Given the description of an element on the screen output the (x, y) to click on. 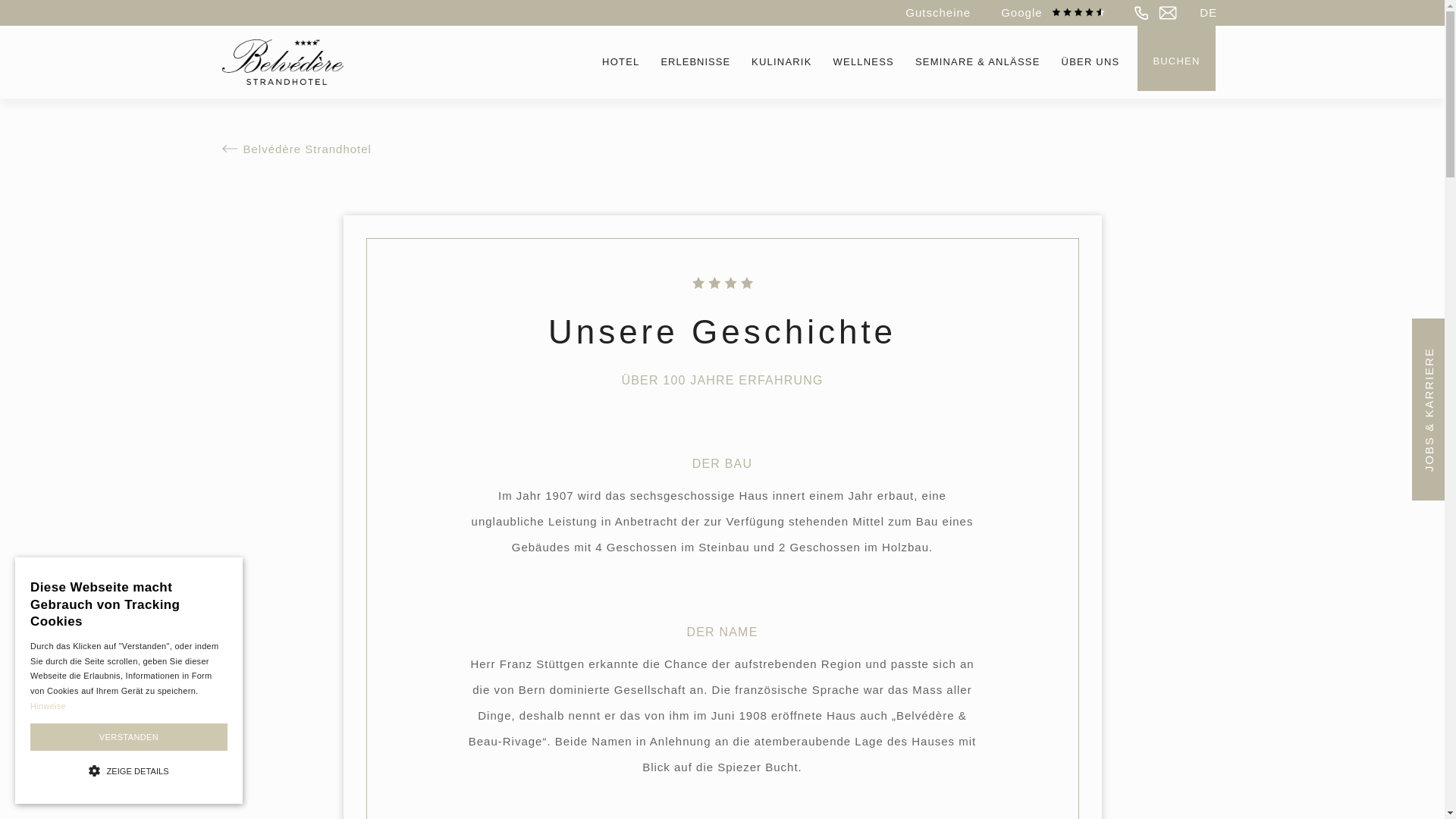
Gutscheine Element type: text (937, 12)
BUCHEN Element type: text (1175, 58)
Hinweise Element type: text (47, 705)
KULINARIK Element type: text (781, 62)
HOTEL Element type: text (620, 62)
ERLEBNISSE Element type: text (694, 62)
WELLNESS Element type: text (863, 62)
